Given the description of an element on the screen output the (x, y) to click on. 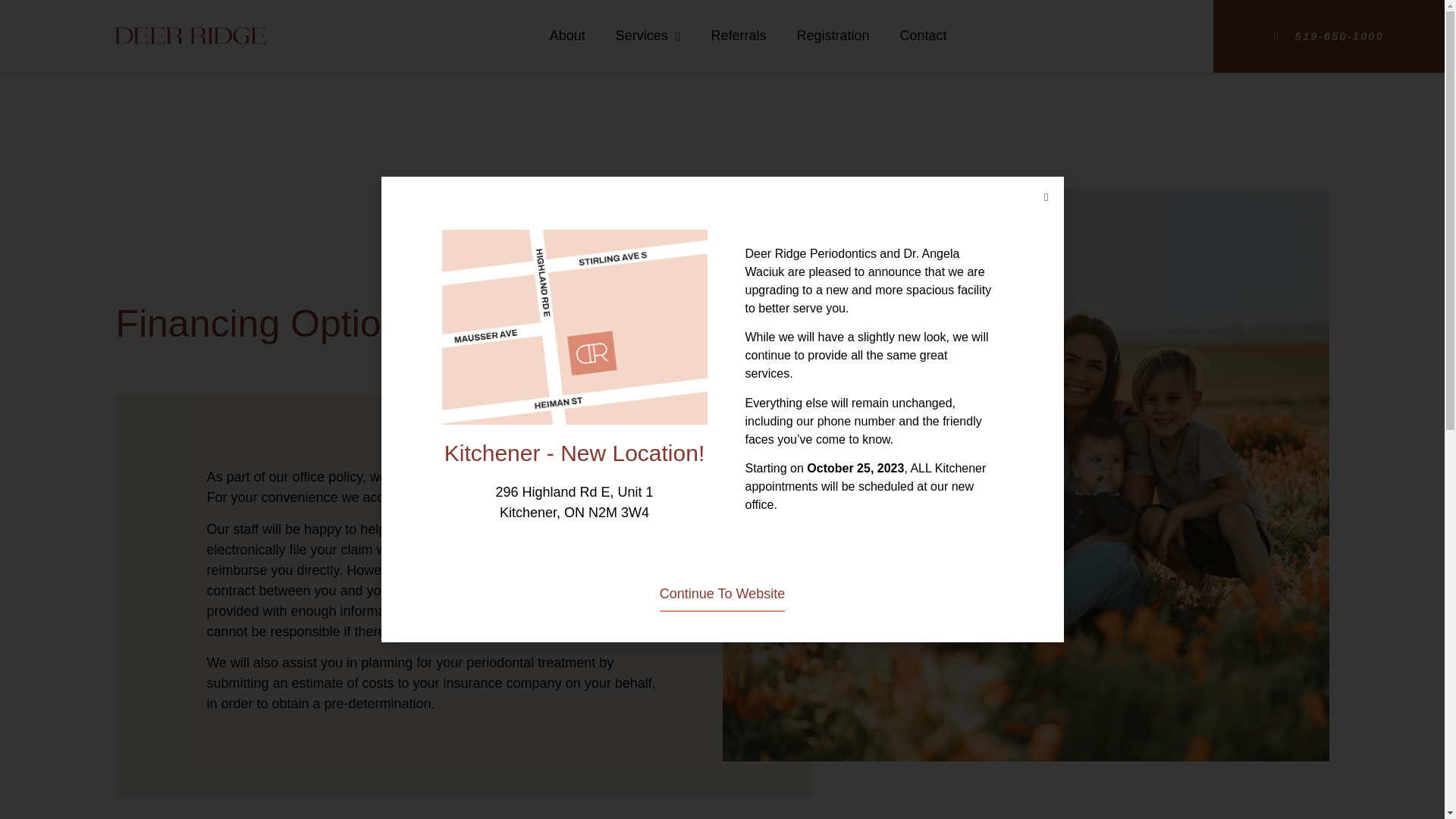
Registration (832, 35)
Referrals (737, 35)
About (567, 35)
Contact (923, 35)
Services (648, 35)
